Given the description of an element on the screen output the (x, y) to click on. 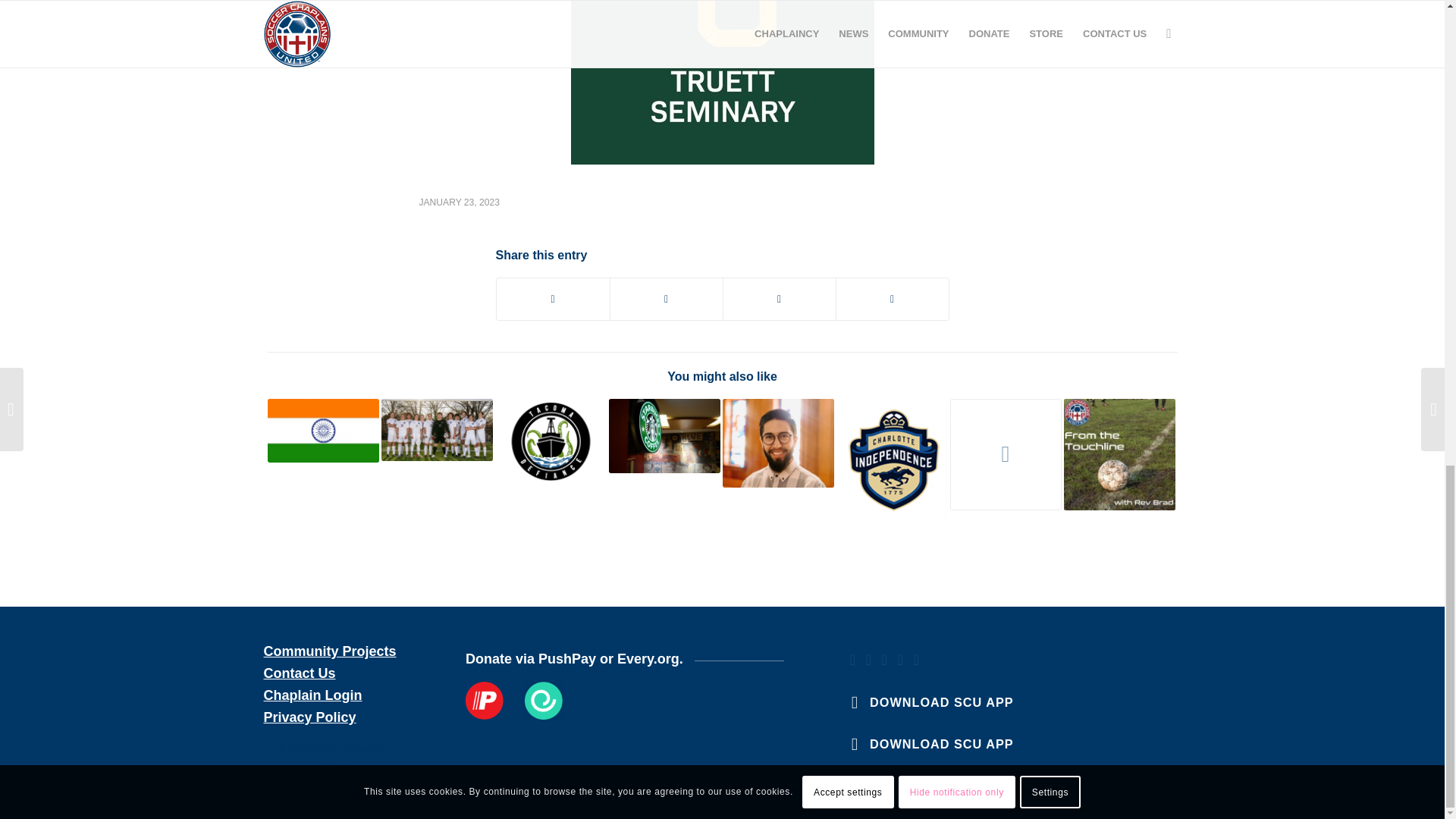
Community Projects (329, 651)
DOWNLOAD SCU APP (941, 702)
Chaplain Login (312, 694)
Contact Us (299, 672)
Breaking New Ground (322, 430)
Privacy Policy (309, 717)
